Given the description of an element on the screen output the (x, y) to click on. 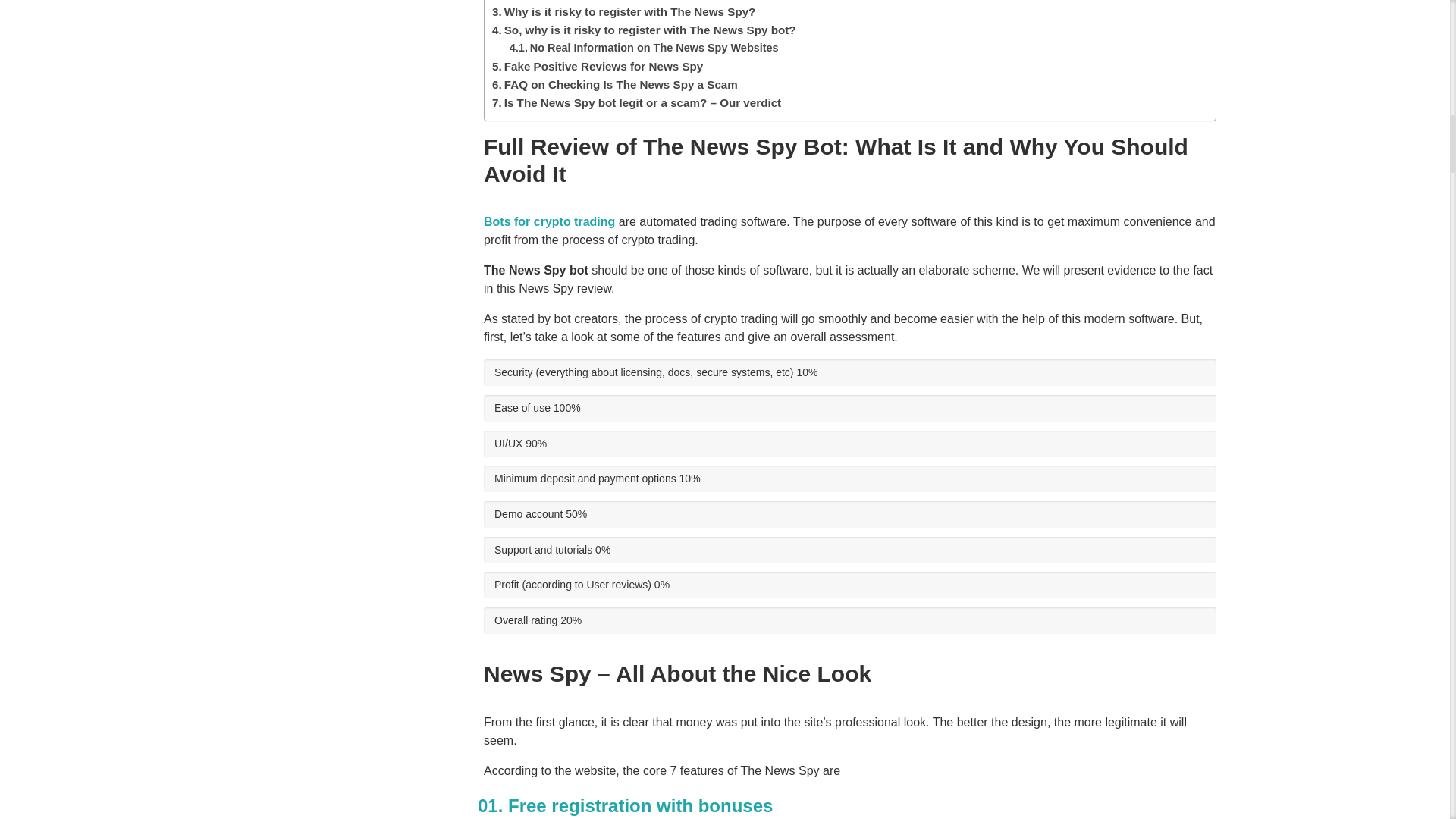
FAQ on Checking Is The News Spy a Scam (620, 83)
Why is it risky to register with The News Spy? (629, 11)
No Real Information on The News Spy Websites (653, 47)
So, why is it risky to register with The News Spy bot? (649, 29)
Fake Positive Reviews for News Spy (603, 65)
